Given the description of an element on the screen output the (x, y) to click on. 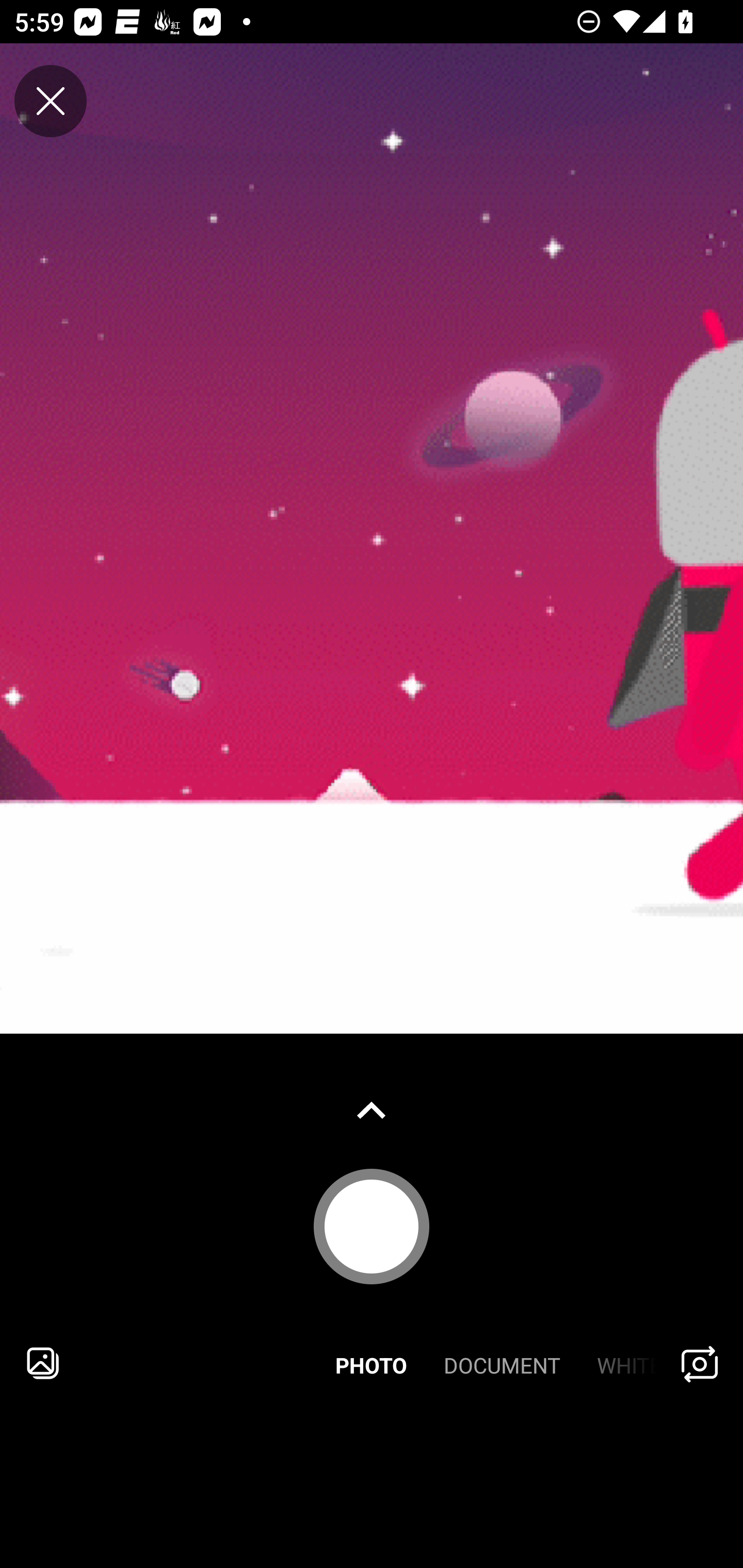
Close (50, 101)
Show gallery (371, 1110)
Capture (371, 1226)
Import (43, 1363)
Flip Camera (699, 1363)
PHOTO (371, 1362)
DOCUMENT (502, 1362)
